Given the description of an element on the screen output the (x, y) to click on. 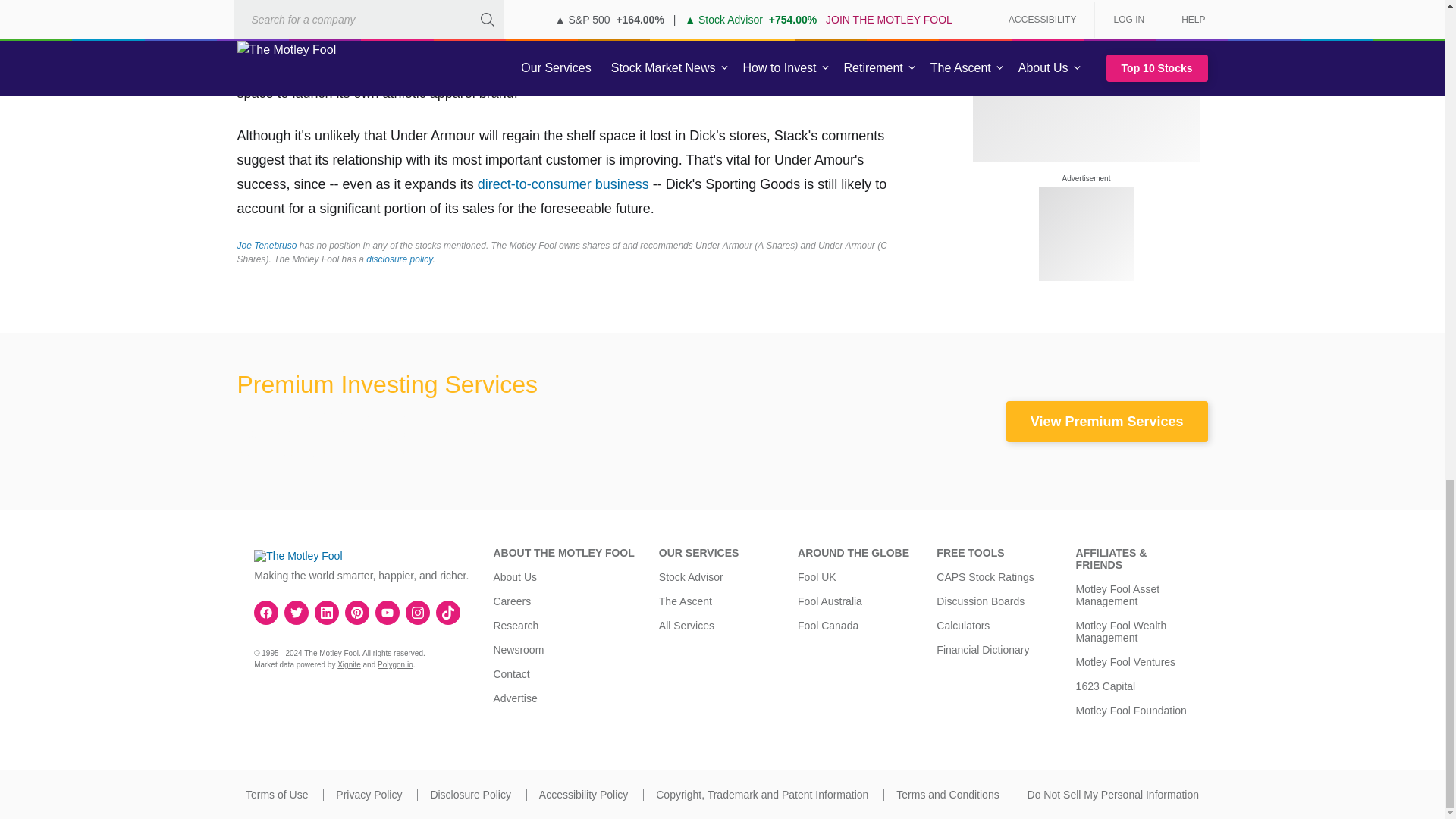
Privacy Policy (368, 794)
Accessibility Policy (582, 794)
Terms of Use (276, 794)
Disclosure Policy (470, 794)
Terms and Conditions (947, 794)
Copyright, Trademark and Patent Information (761, 794)
Do Not Sell My Personal Information. (1112, 794)
